Given the description of an element on the screen output the (x, y) to click on. 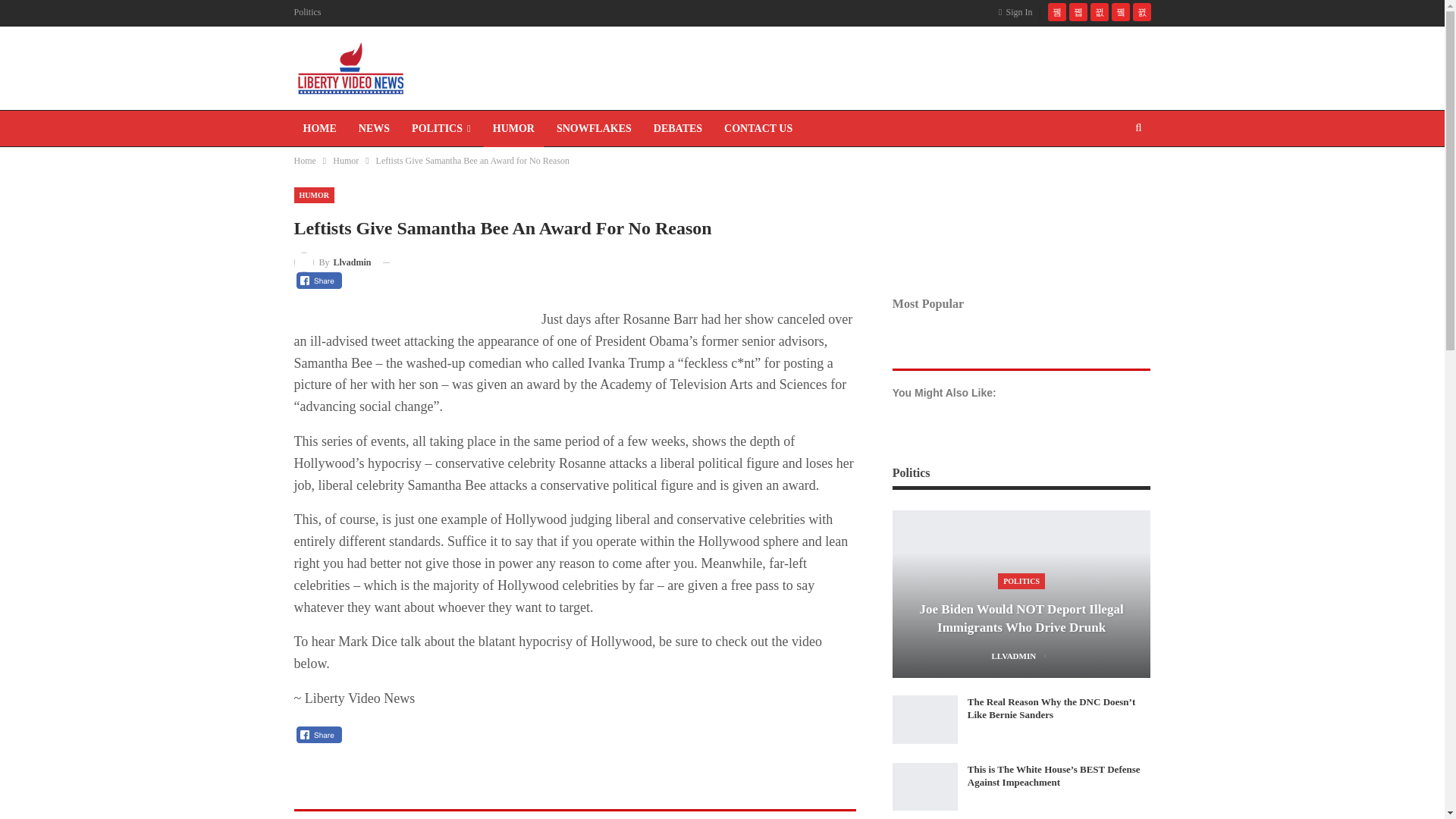
Politics (307, 11)
Sign In (1018, 12)
NEWS (373, 128)
Browse Author Articles (332, 261)
HOME (320, 128)
POLITICS (441, 128)
